Given the description of an element on the screen output the (x, y) to click on. 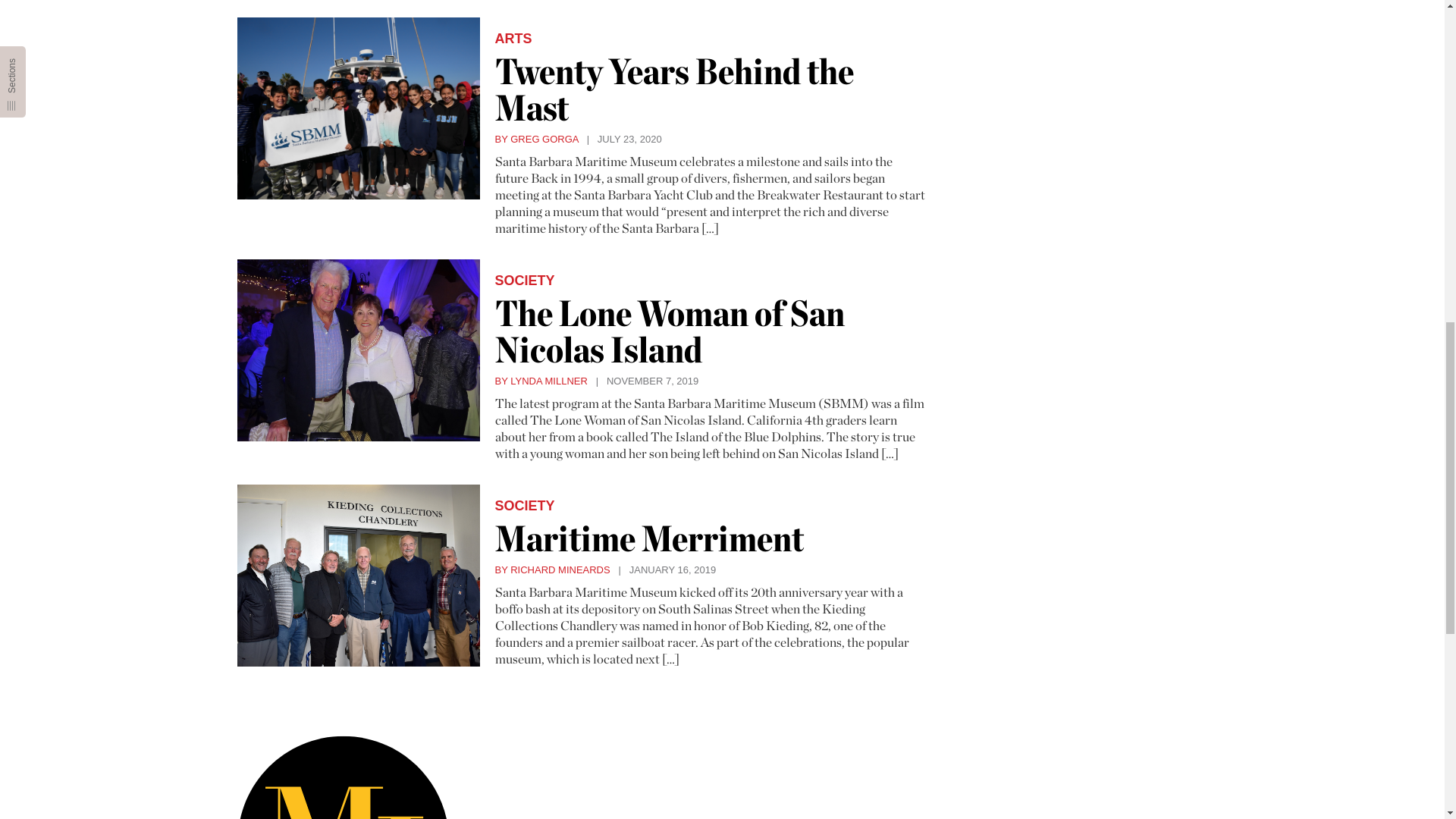
Lynda Millner (540, 380)
Richard Mineards (552, 569)
Greg Gorga (536, 138)
